Given the description of an element on the screen output the (x, y) to click on. 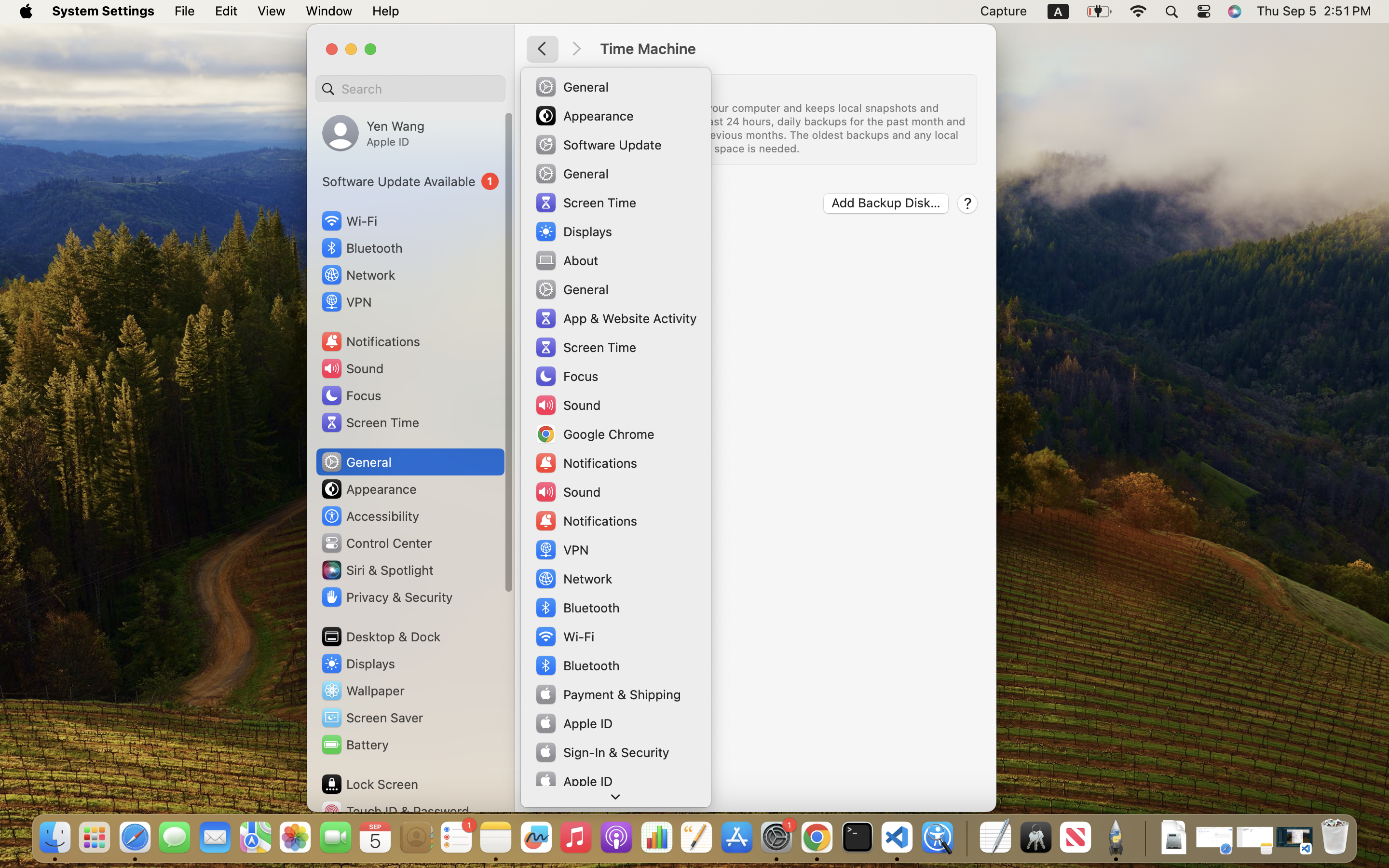
Battery Element type: AXStaticText (354, 744)
Sound Element type: AXStaticText (351, 367)
Time Machine backs up your computer and keeps local snapshots and hourly backups for the past 24 hours, daily backups for the past month and weekly backups for all previous months. The oldest backups and any local snapshots are deleted as space is needed. Element type: AXStaticText (775, 128)
1 Element type: AXStaticText (410, 180)
Notifications Element type: AXStaticText (370, 340)
